Given the description of an element on the screen output the (x, y) to click on. 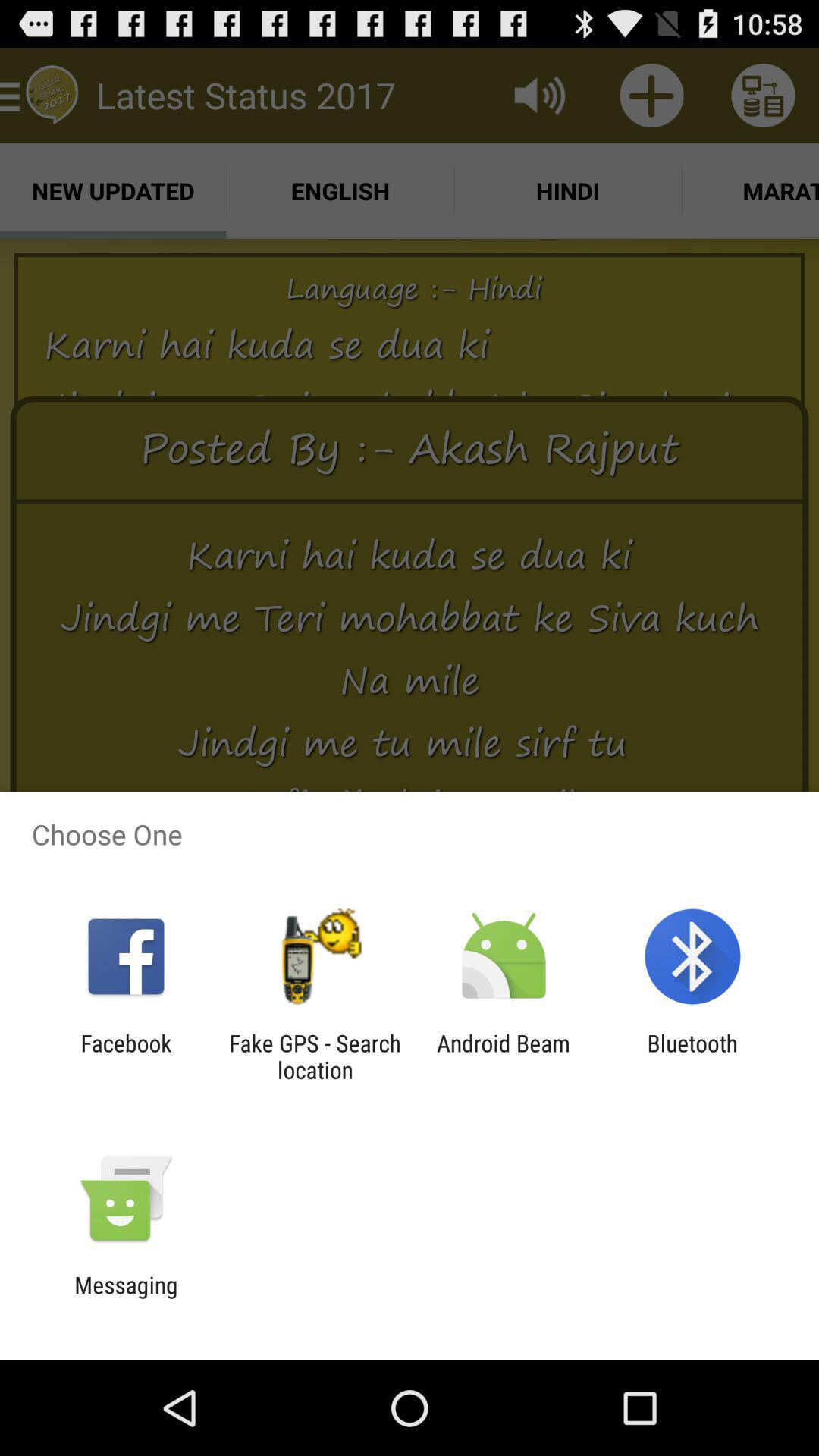
launch the icon next to android beam item (314, 1056)
